Given the description of an element on the screen output the (x, y) to click on. 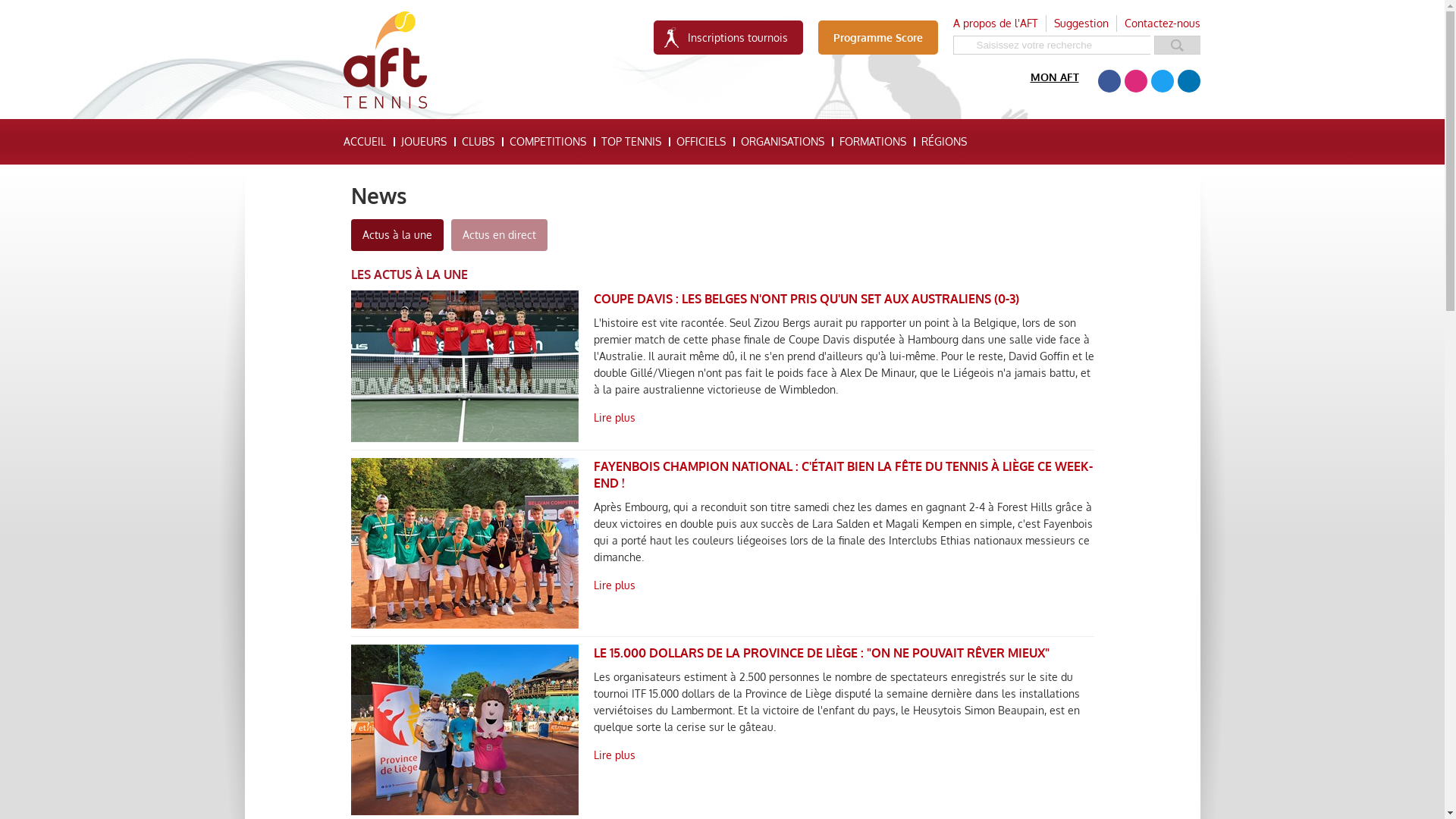
Lire plus Element type: text (964, 585)
A propos de l'AFT Element type: text (994, 22)
Lire plus Element type: text (964, 418)
Lire plus Element type: text (964, 755)
Suggestion Element type: text (1081, 22)
JOUEURS Element type: text (422, 141)
MON AFT Element type: text (1053, 76)
ORGANISATIONS Element type: text (781, 141)
Rechercher Element type: text (1177, 44)
OFFICIELS Element type: text (700, 141)
Programme Score Element type: text (877, 37)
Inscriptions tournois Element type: text (728, 37)
COMPETITIONS Element type: text (547, 141)
AFTnet Element type: text (384, 60)
CLUBS Element type: text (477, 141)
Contactez-nous Element type: text (1161, 23)
ACCUEIL Element type: text (363, 141)
TOP TENNIS Element type: text (630, 141)
FORMATIONS Element type: text (872, 141)
